Given the description of an element on the screen output the (x, y) to click on. 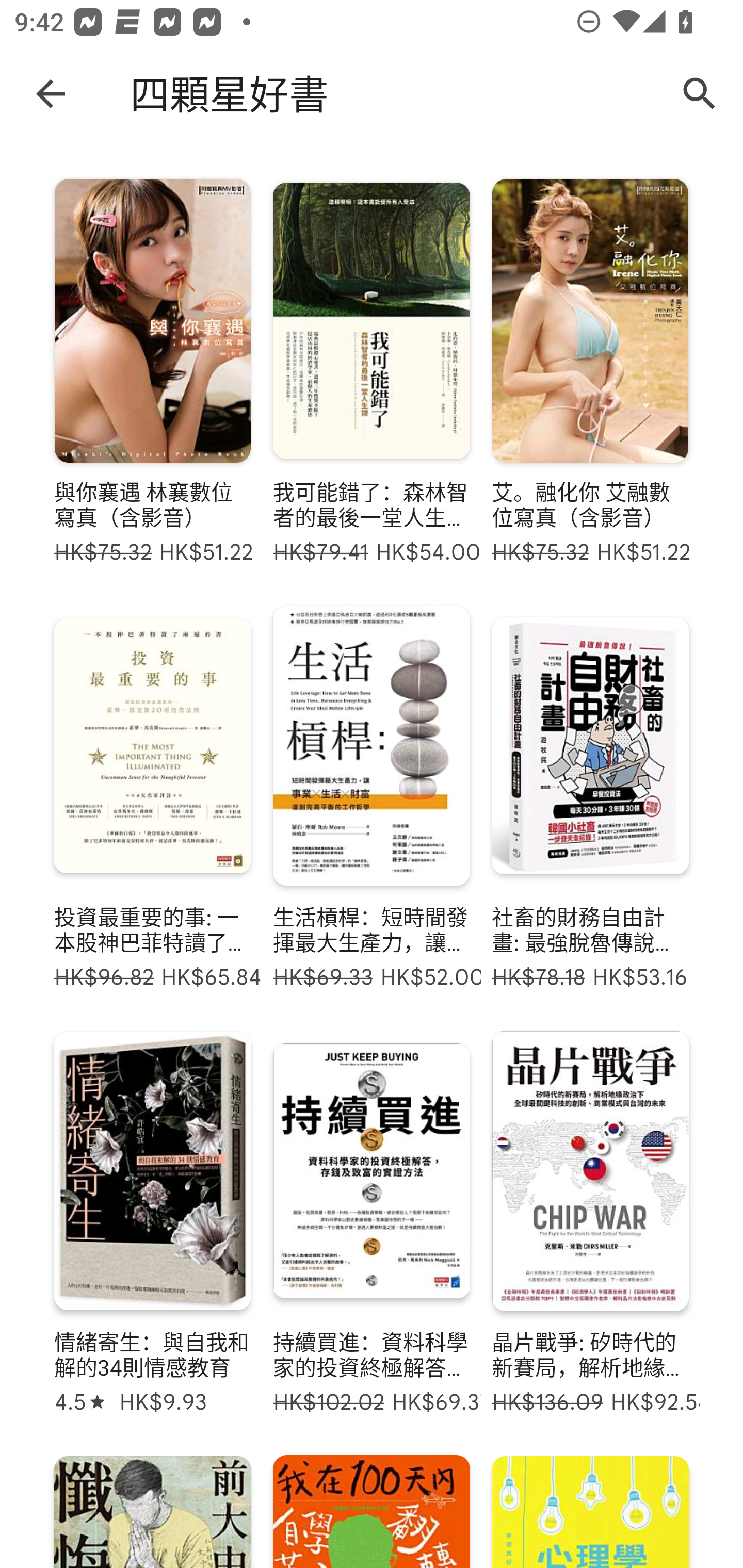
Navigate up (50, 92)
Search Google Play (699, 93)
